Given the description of an element on the screen output the (x, y) to click on. 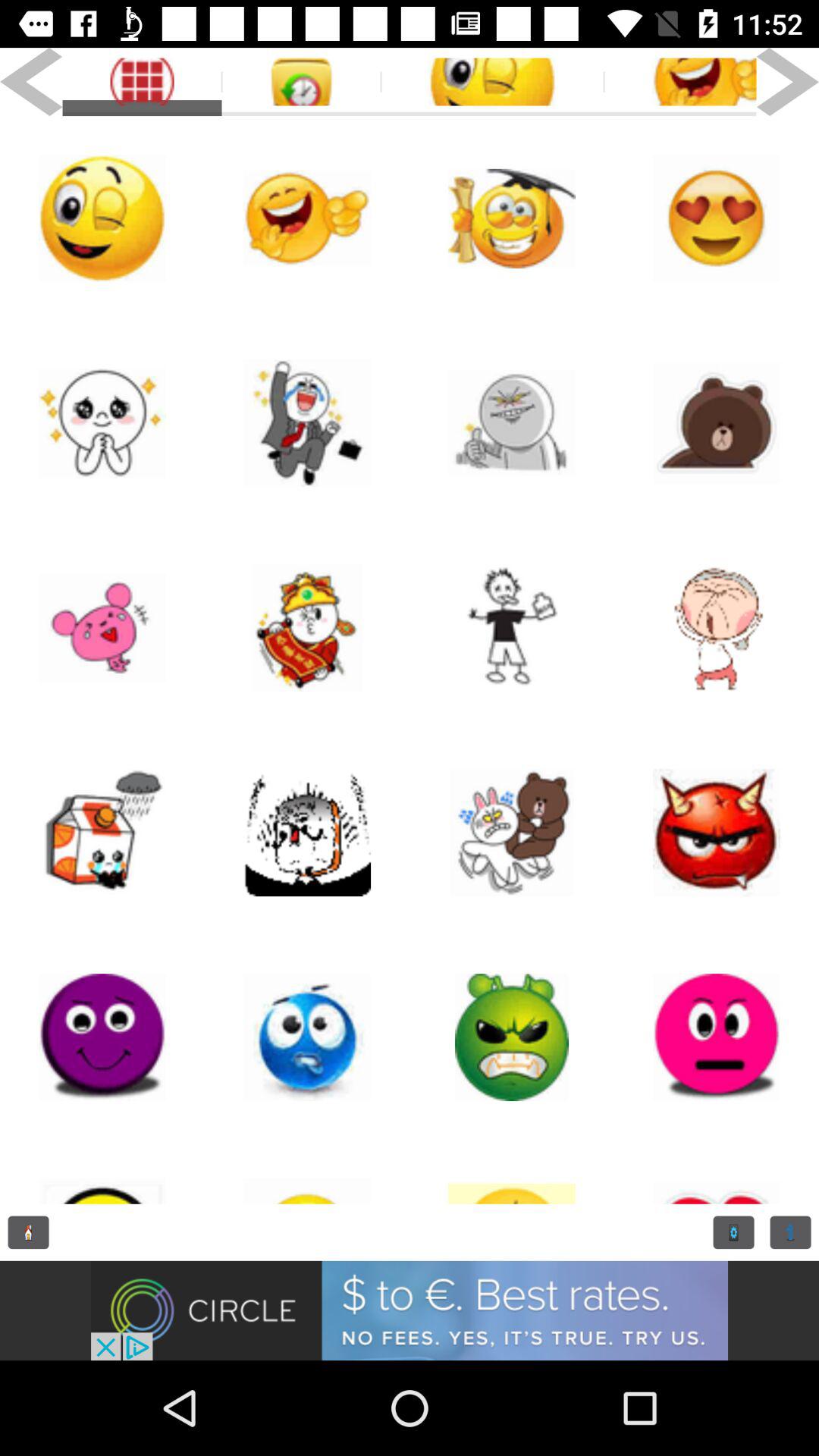
image option (306, 1171)
